Given the description of an element on the screen output the (x, y) to click on. 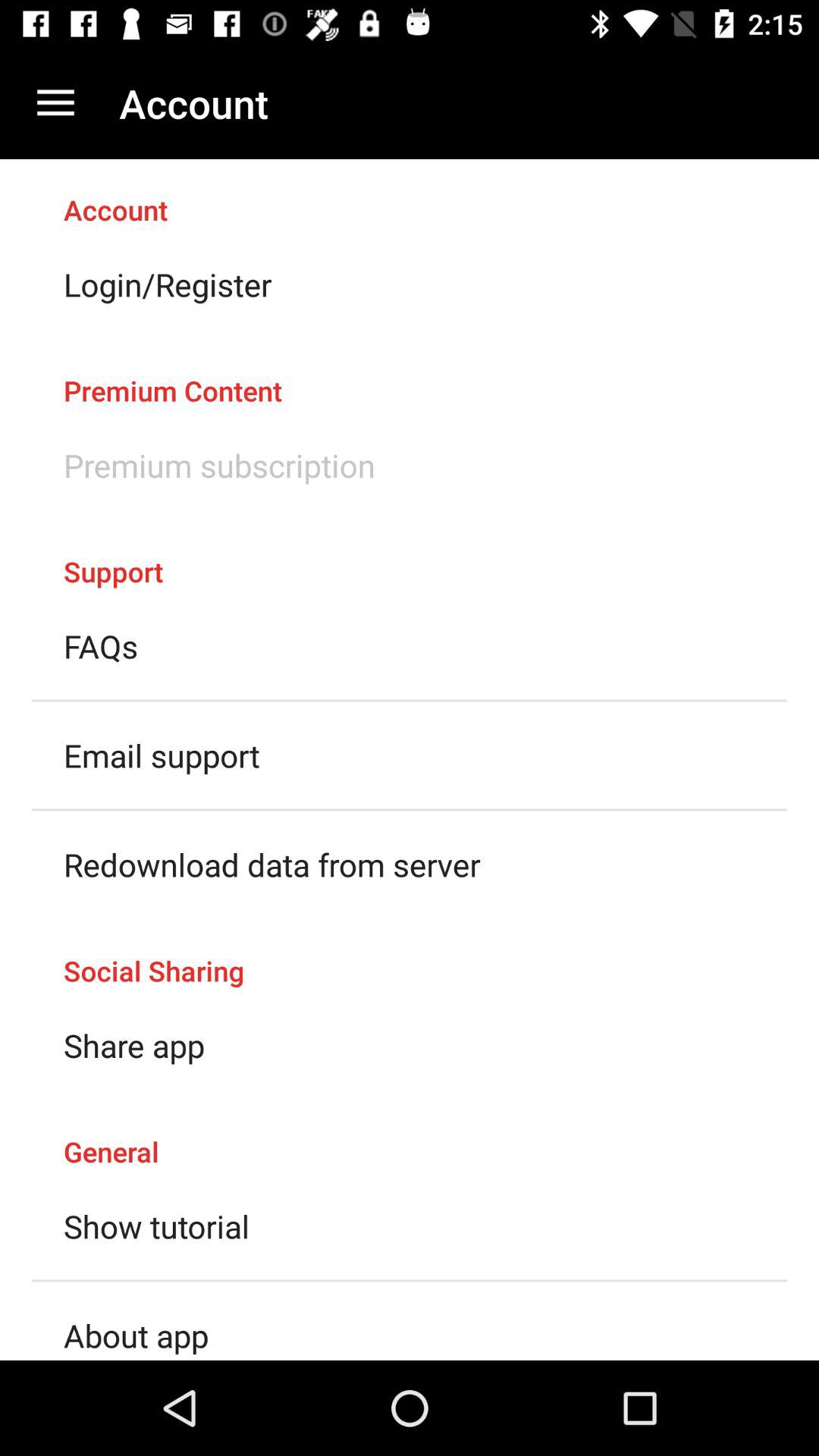
turn off the general icon (409, 1135)
